Given the description of an element on the screen output the (x, y) to click on. 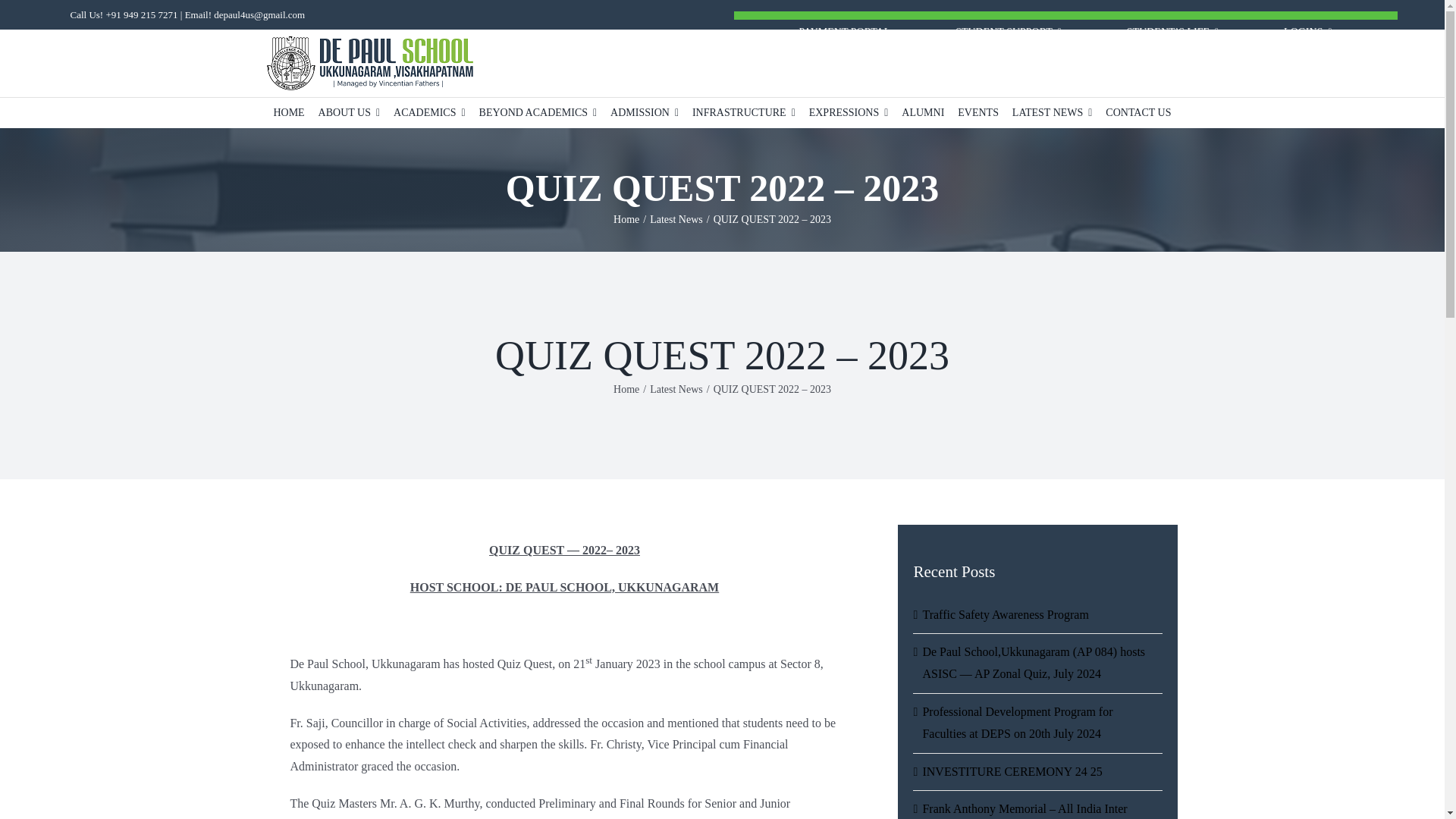
STUDENT SUPPORT (1008, 32)
LOGINS (1308, 32)
PAYMENT PORTAL (843, 32)
